Given the description of an element on the screen output the (x, y) to click on. 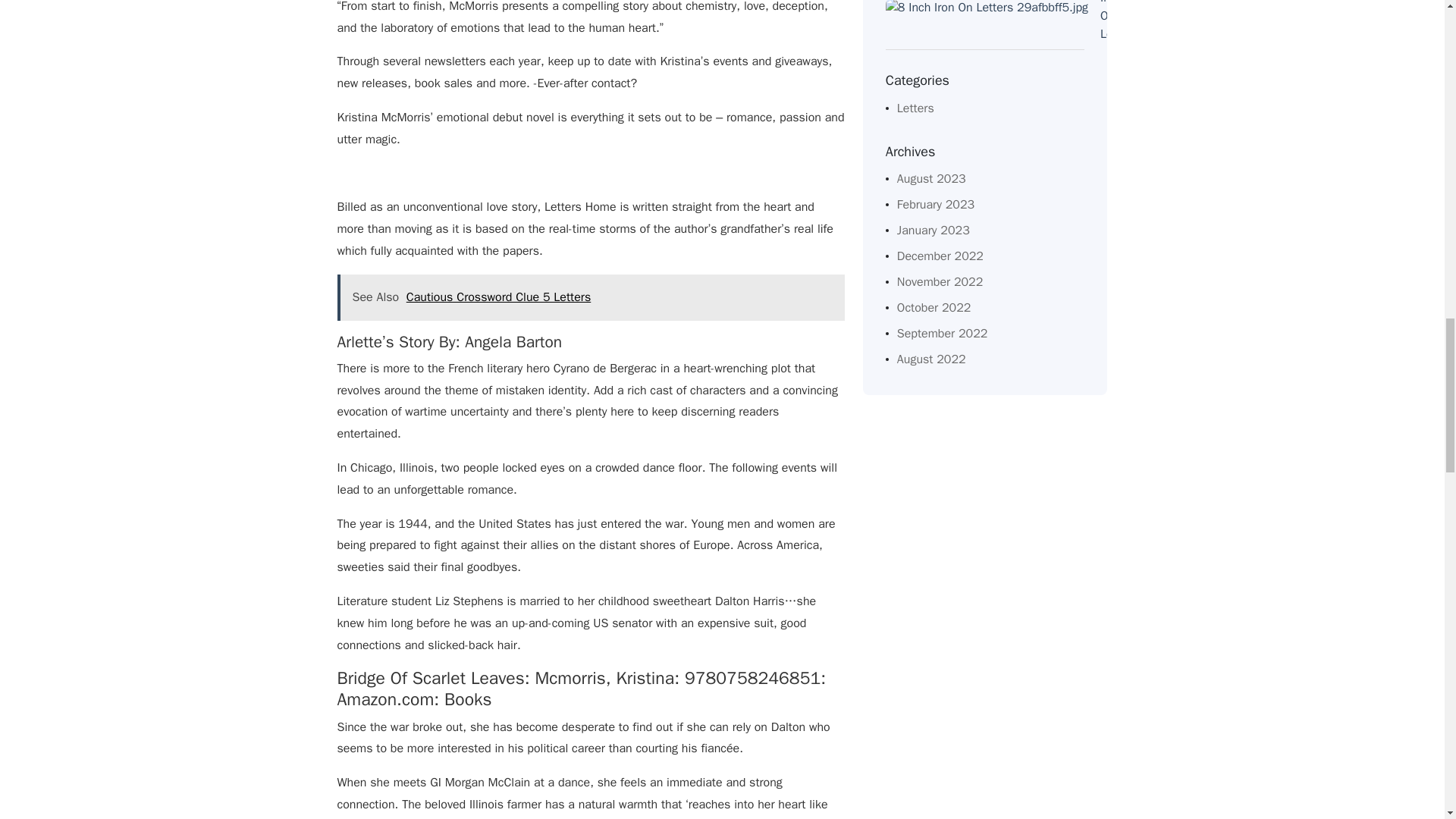
See Also  Cautious Crossword Clue 5 Letters (590, 297)
